Given the description of an element on the screen output the (x, y) to click on. 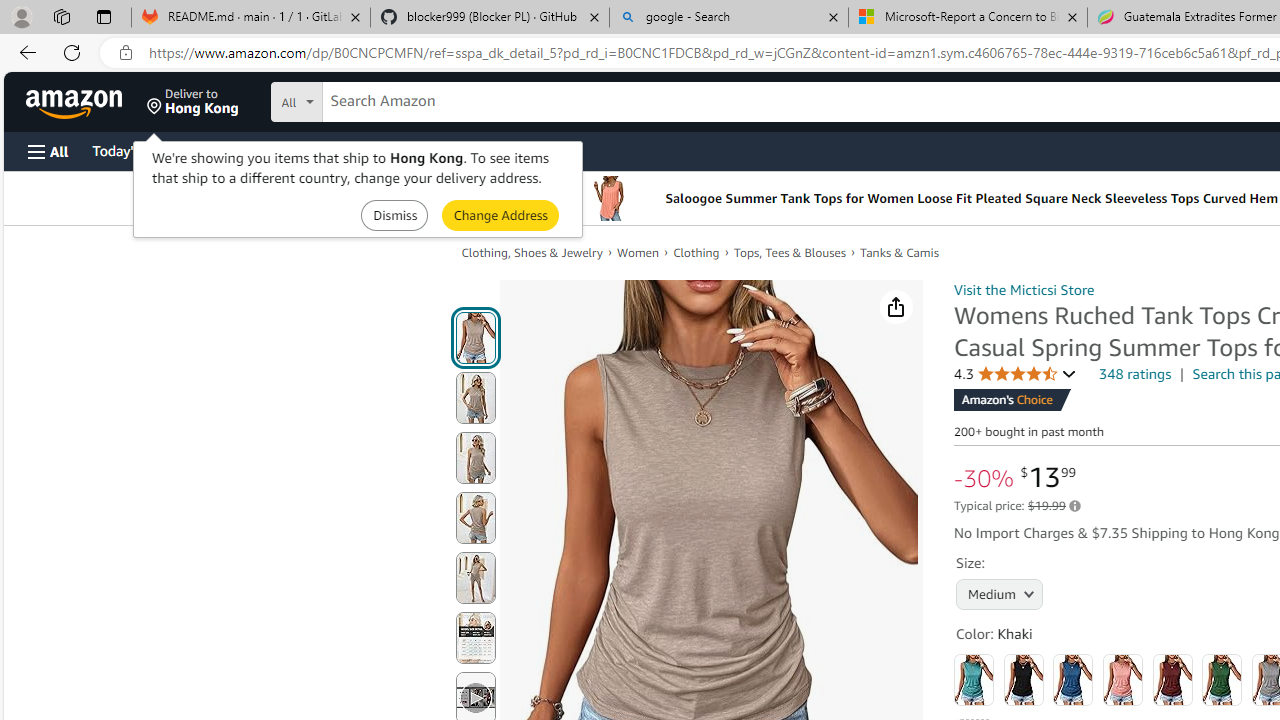
Green (1222, 679)
Aqua (974, 679)
Dark Red (1172, 679)
Clothing (696, 252)
Amazon (76, 101)
Dismiss (394, 214)
Clothing, Shoes & Jewelry (531, 252)
